Given the description of an element on the screen output the (x, y) to click on. 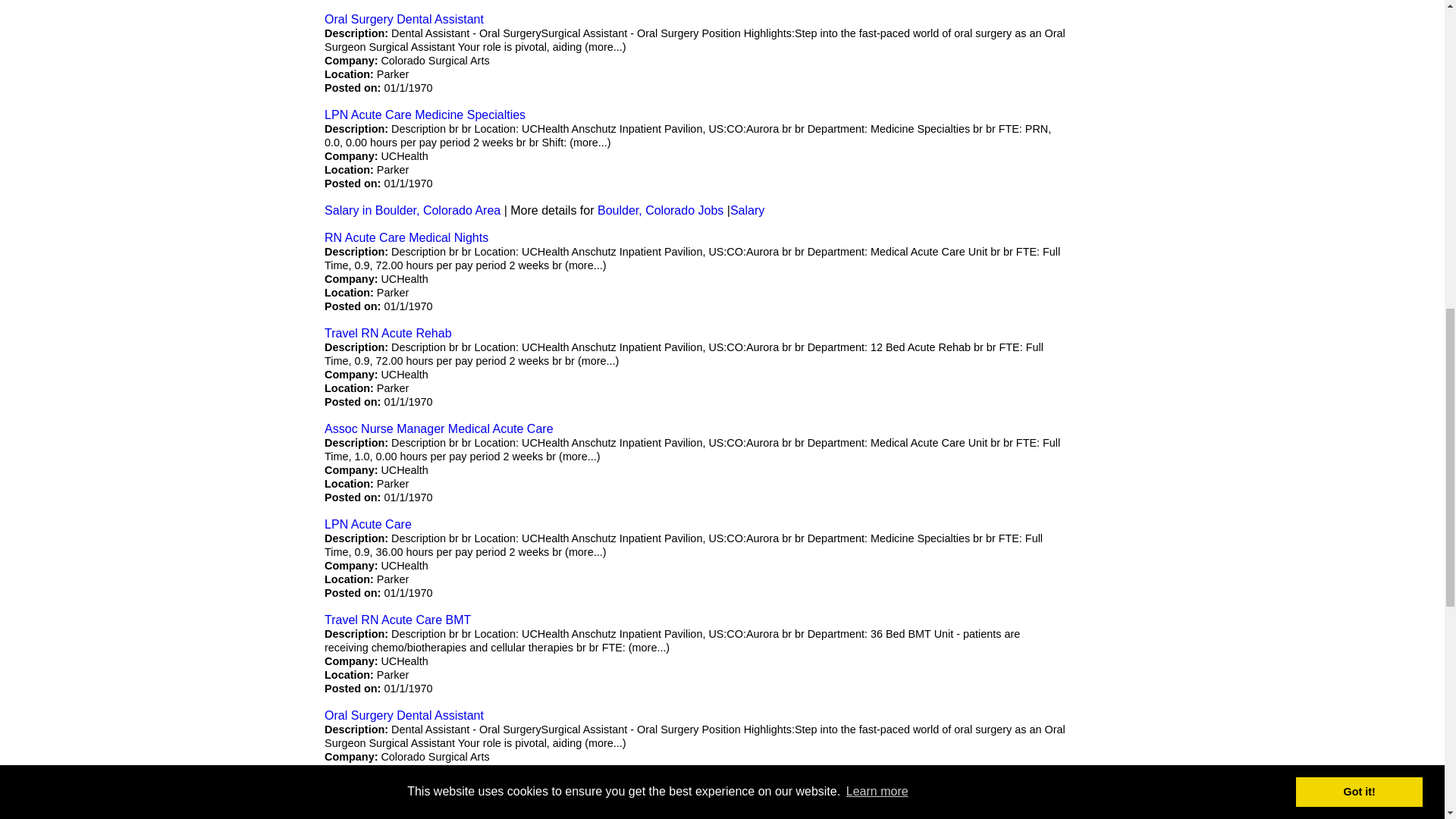
RN Acute Care Medical Unit (400, 810)
LPN Acute Care Medicine Specialties (424, 114)
Oral Surgery Dental Assistant (403, 19)
Oral Surgery Dental Assistant (403, 19)
Salary (747, 210)
Boulder, Colorado Jobs (659, 210)
Travel RN Acute Rehab (387, 332)
Assoc Nurse Manager Medical Acute Care (438, 428)
Travel RN Acute Care BMT (397, 619)
Oral Surgery Dental Assistant (403, 715)
RN Acute Care Medical Nights (405, 237)
Salary in Boulder, Colorado Area (412, 210)
LPN Acute Care Medicine Specialties (424, 114)
LPN Acute Care (368, 523)
